Given the description of an element on the screen output the (x, y) to click on. 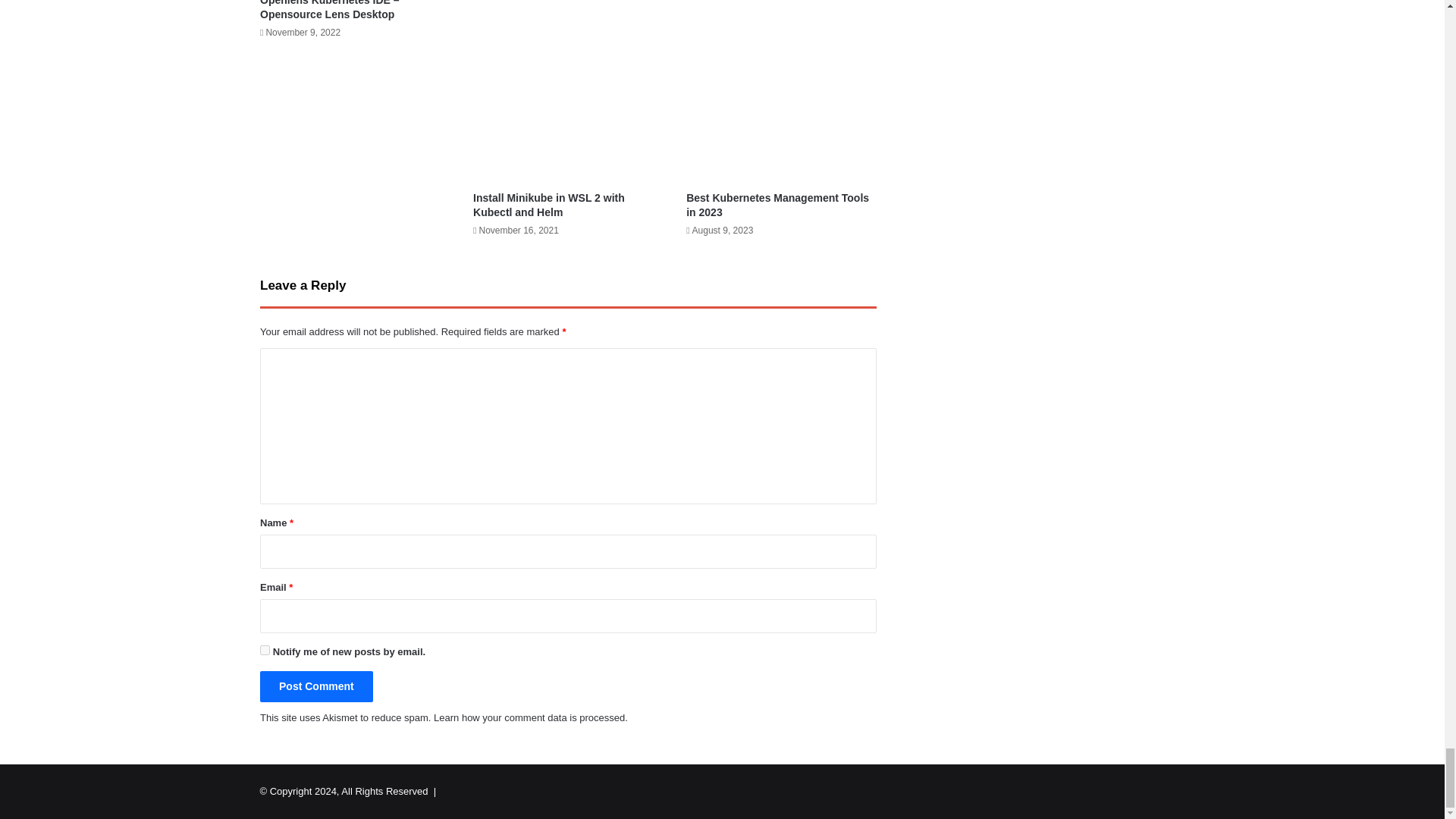
subscribe (264, 650)
Post Comment (315, 685)
